Given the description of an element on the screen output the (x, y) to click on. 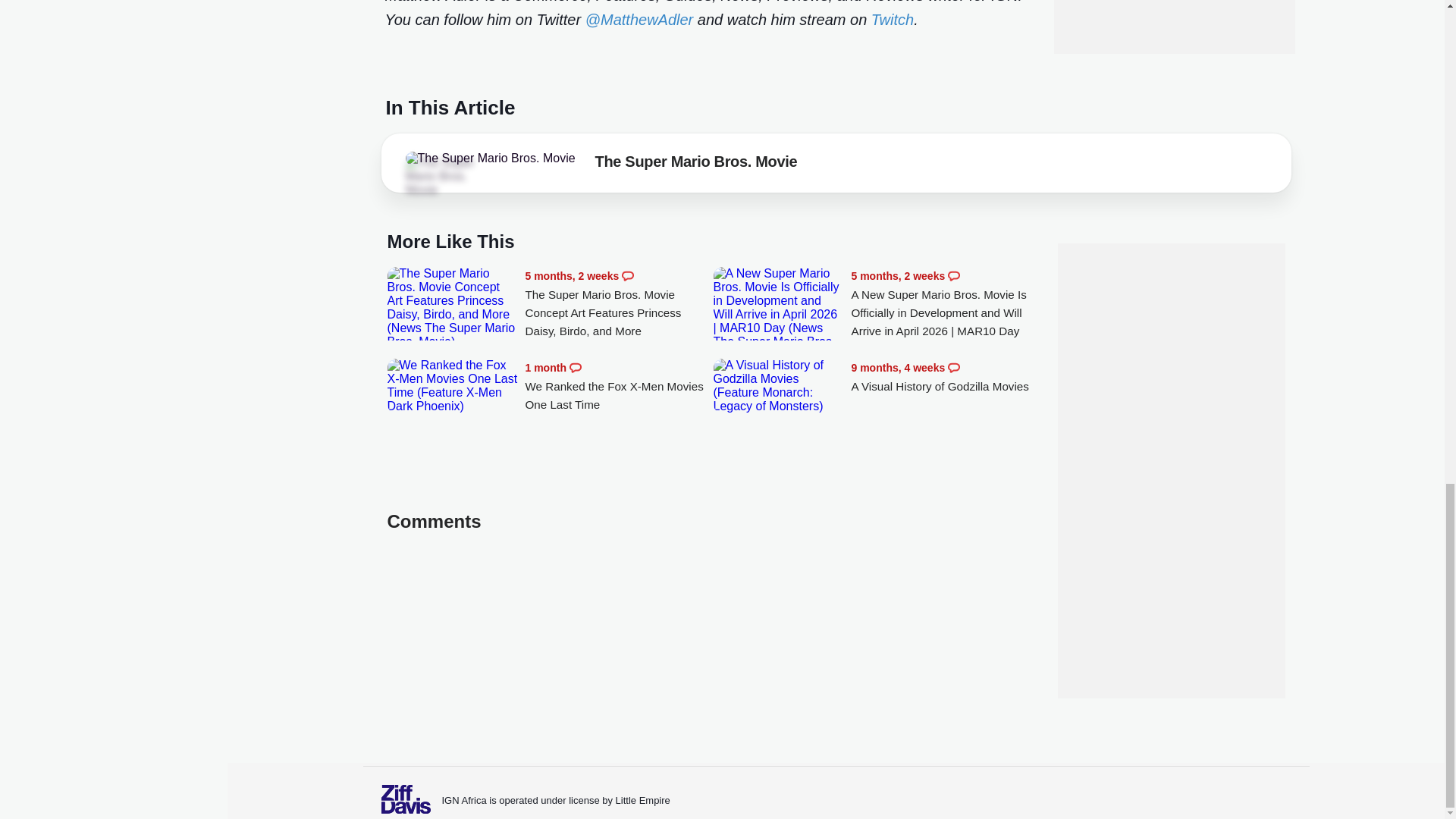
Comments (627, 275)
Comments (574, 367)
We Ranked the Fox X-Men Movies One Last Time (451, 385)
We Ranked the Fox X-Men Movies One Last Time (618, 386)
Comments (953, 367)
Comments (953, 275)
The Super Mario Bros. Movie (489, 158)
The Super Mario Bros. Movie (448, 176)
The Super Mario Bros. Movie (696, 164)
